Given the description of an element on the screen output the (x, y) to click on. 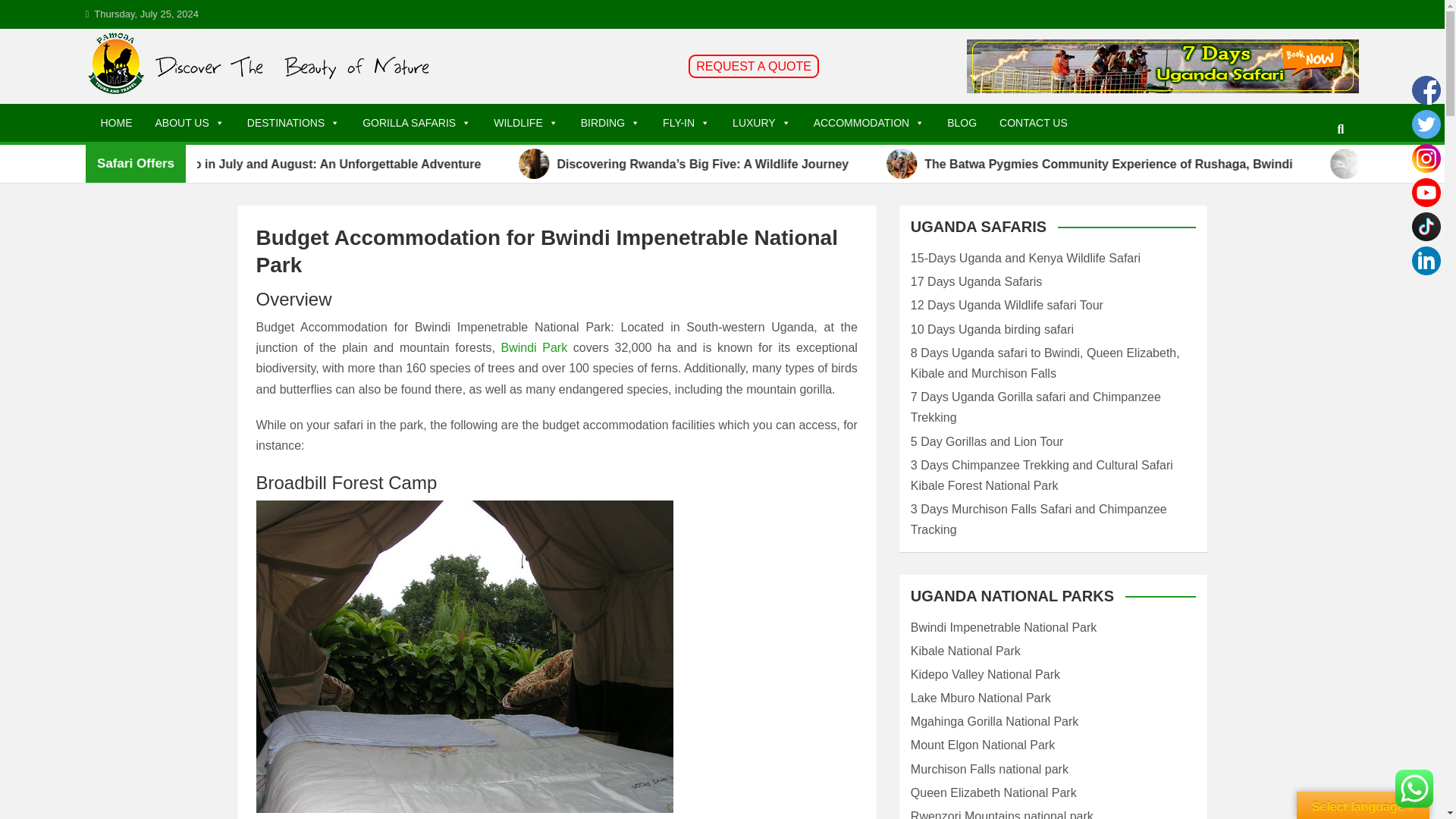
Pamoja Tours and Travel (263, 121)
ABOUT US (189, 122)
DESTINATIONS (292, 122)
REQUEST A QUOTE (753, 65)
HOME (116, 122)
